Given the description of an element on the screen output the (x, y) to click on. 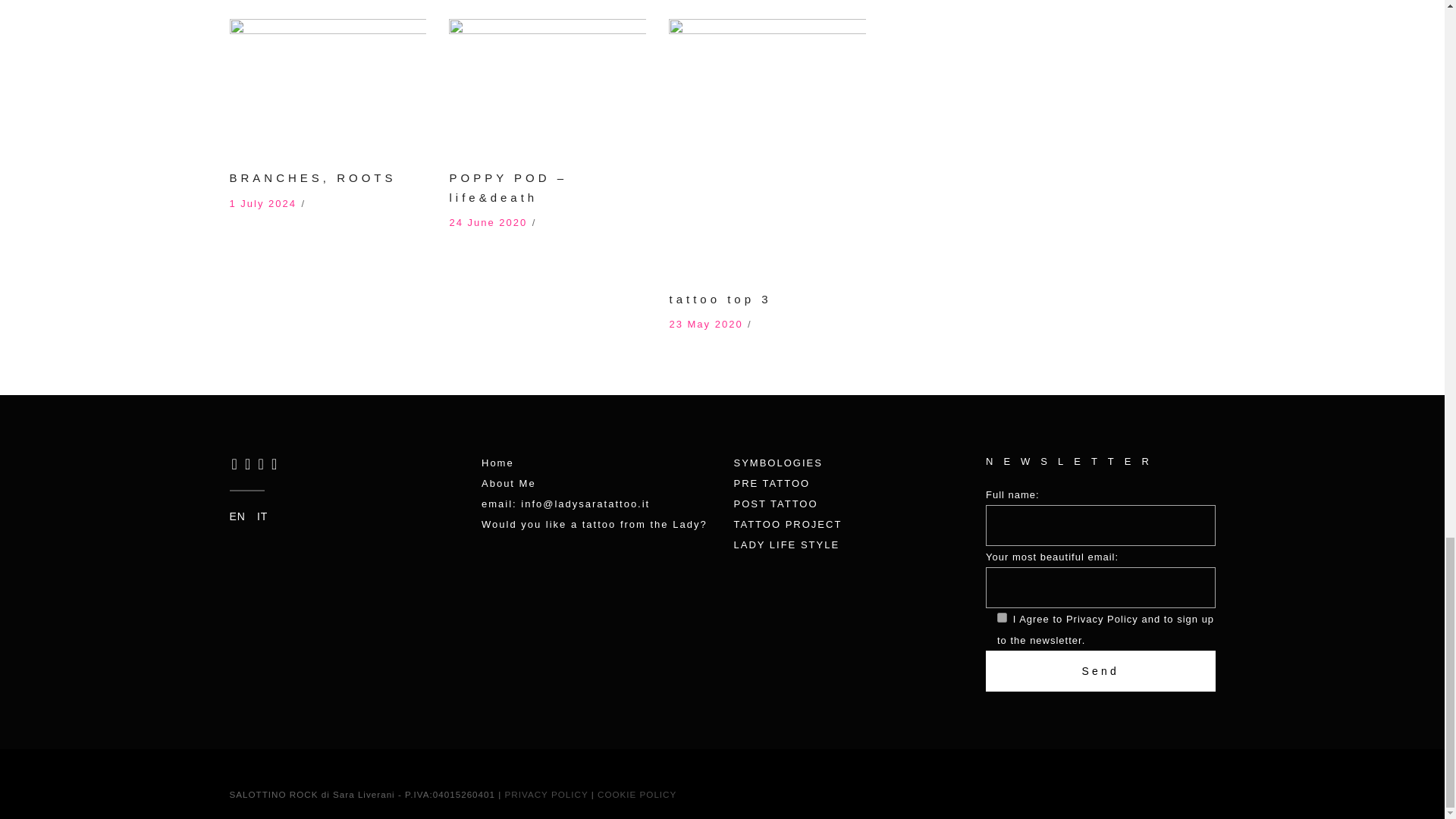
BRANCHES, ROOTS (312, 177)
tattoo top 3 (719, 298)
BRANCHES, ROOTS (327, 84)
Send (1100, 670)
BRANCHES, ROOTS (312, 177)
1 (1002, 617)
1 July 2024 (262, 203)
